Given the description of an element on the screen output the (x, y) to click on. 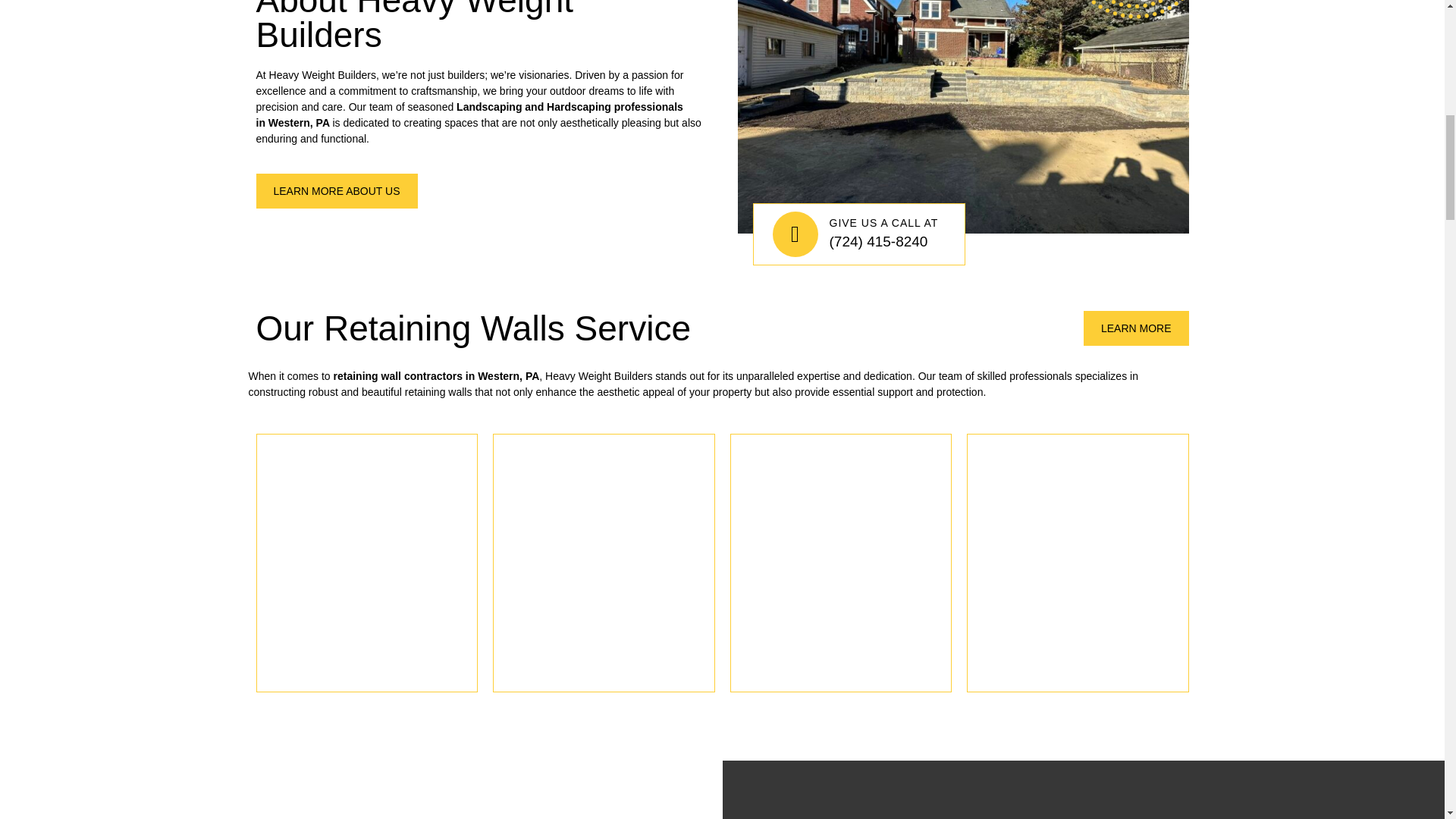
GIVE US A CALL AT (884, 223)
LEARN MORE (1136, 328)
LEARN MORE ABOUT US (336, 190)
